Given the description of an element on the screen output the (x, y) to click on. 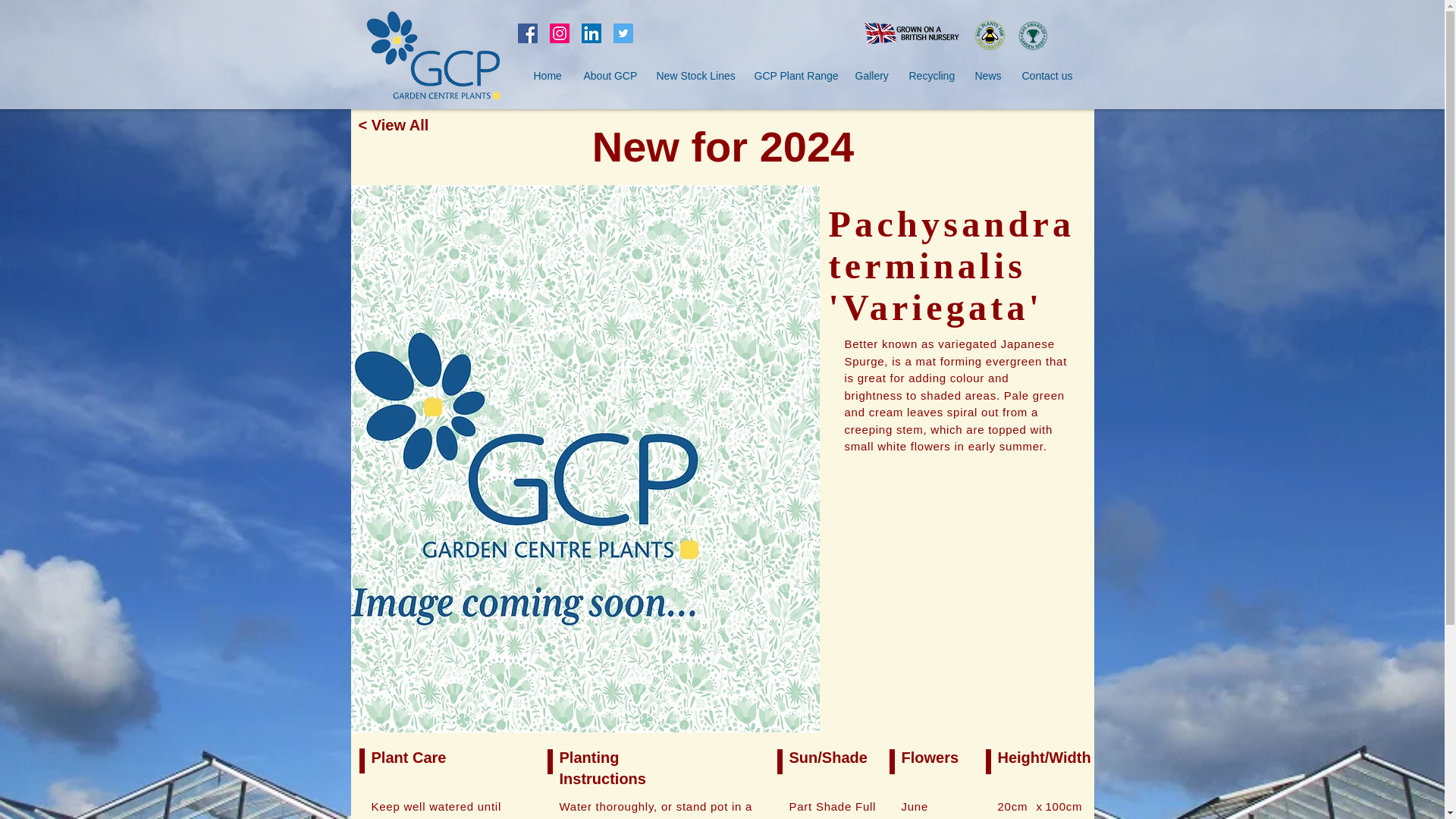
Home (546, 75)
Recycling (930, 75)
Gallery (869, 75)
Contact us (1045, 75)
